Given the description of an element on the screen output the (x, y) to click on. 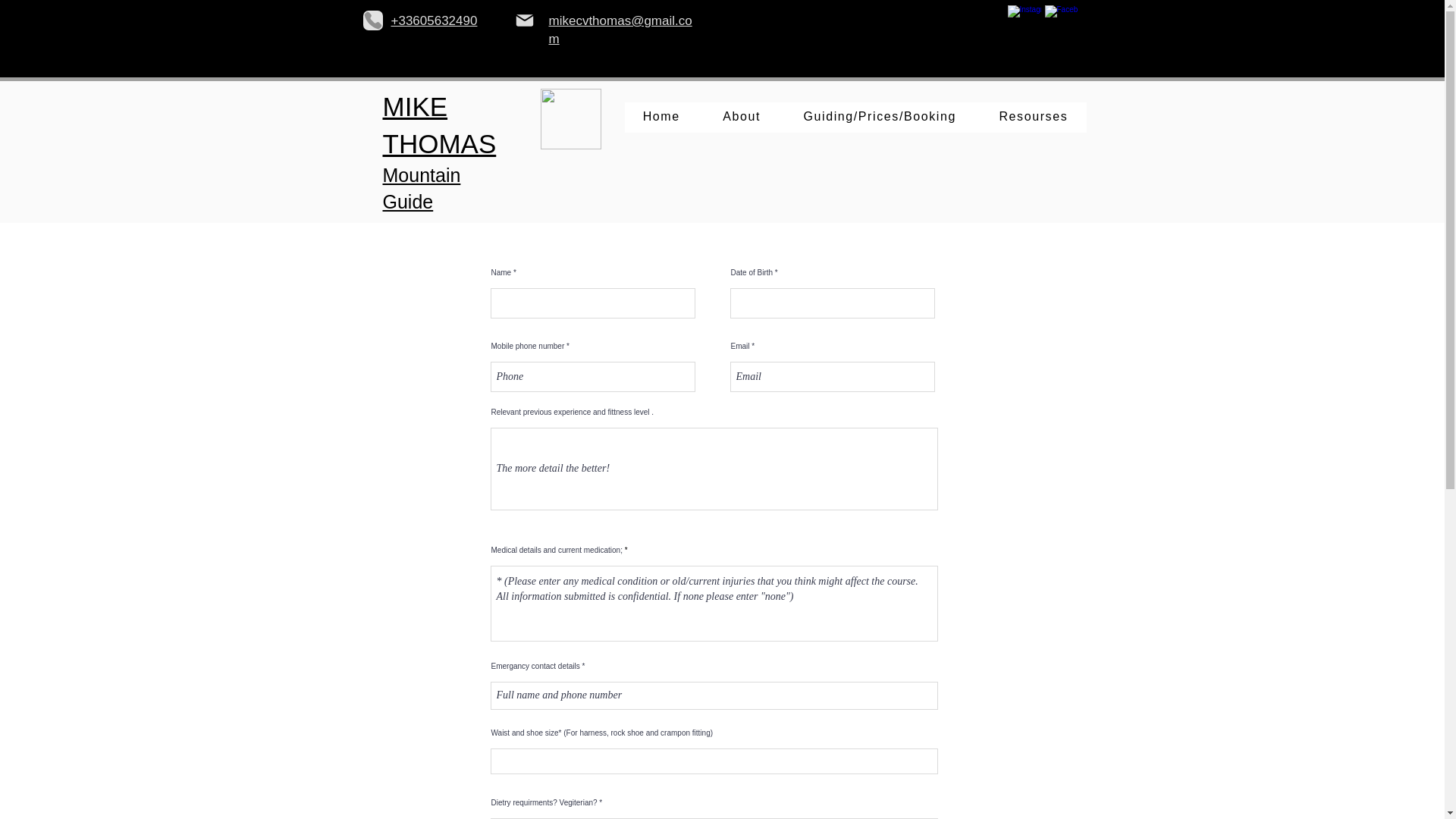
MIKE THOMAS (438, 124)
Mountain Guide (420, 188)
Home (661, 117)
About (741, 117)
Resourses (1032, 117)
